Given the description of an element on the screen output the (x, y) to click on. 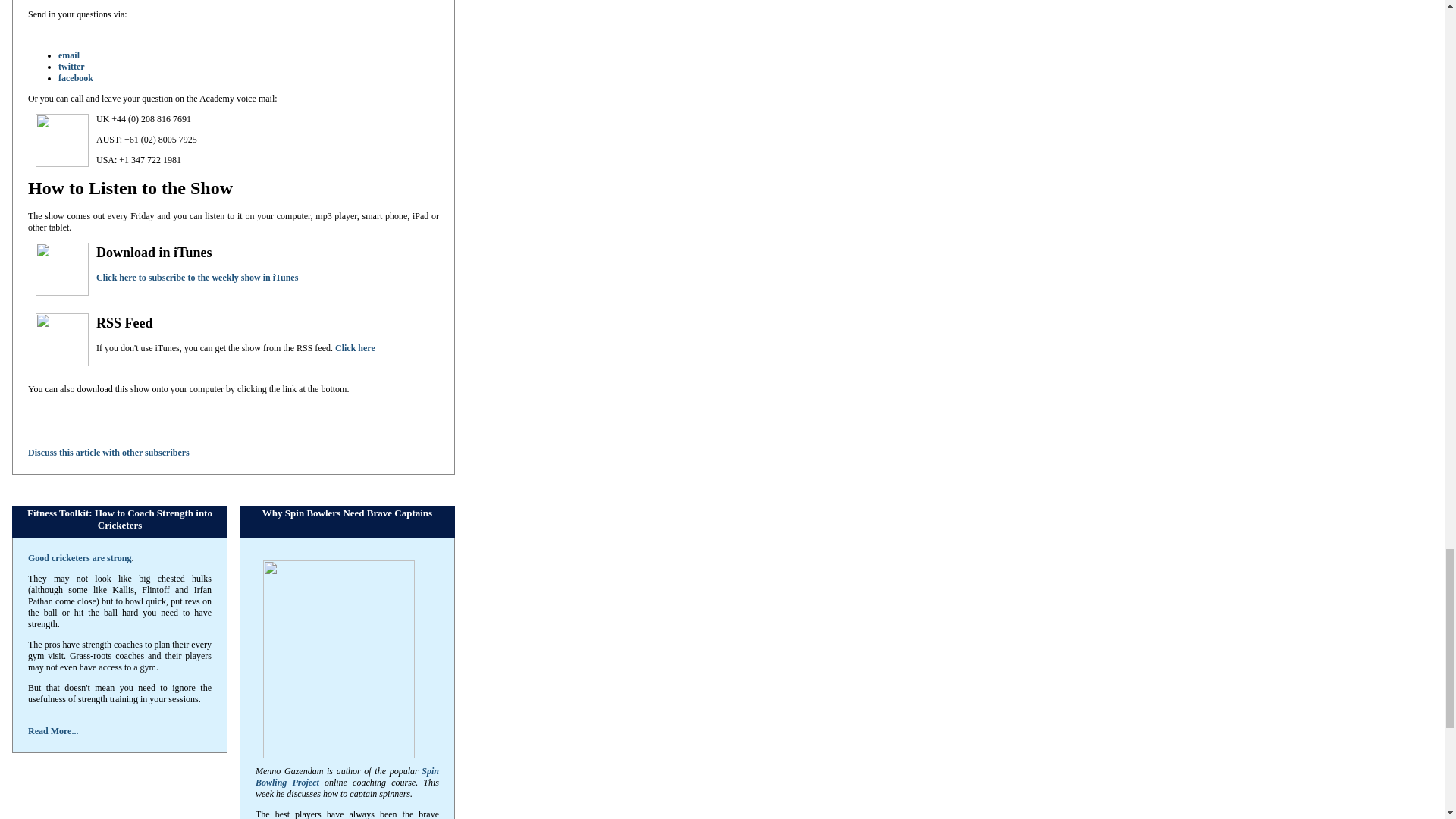
Click here (354, 347)
Spin Bowling Project (347, 776)
facebook (75, 77)
email (69, 54)
Discuss this article with other subscribers (108, 452)
Read More... (52, 730)
Click here to subscribe to the weekly show in iTunes (197, 276)
Good cricketers are strong (79, 557)
twitter (71, 66)
